Given the description of an element on the screen output the (x, y) to click on. 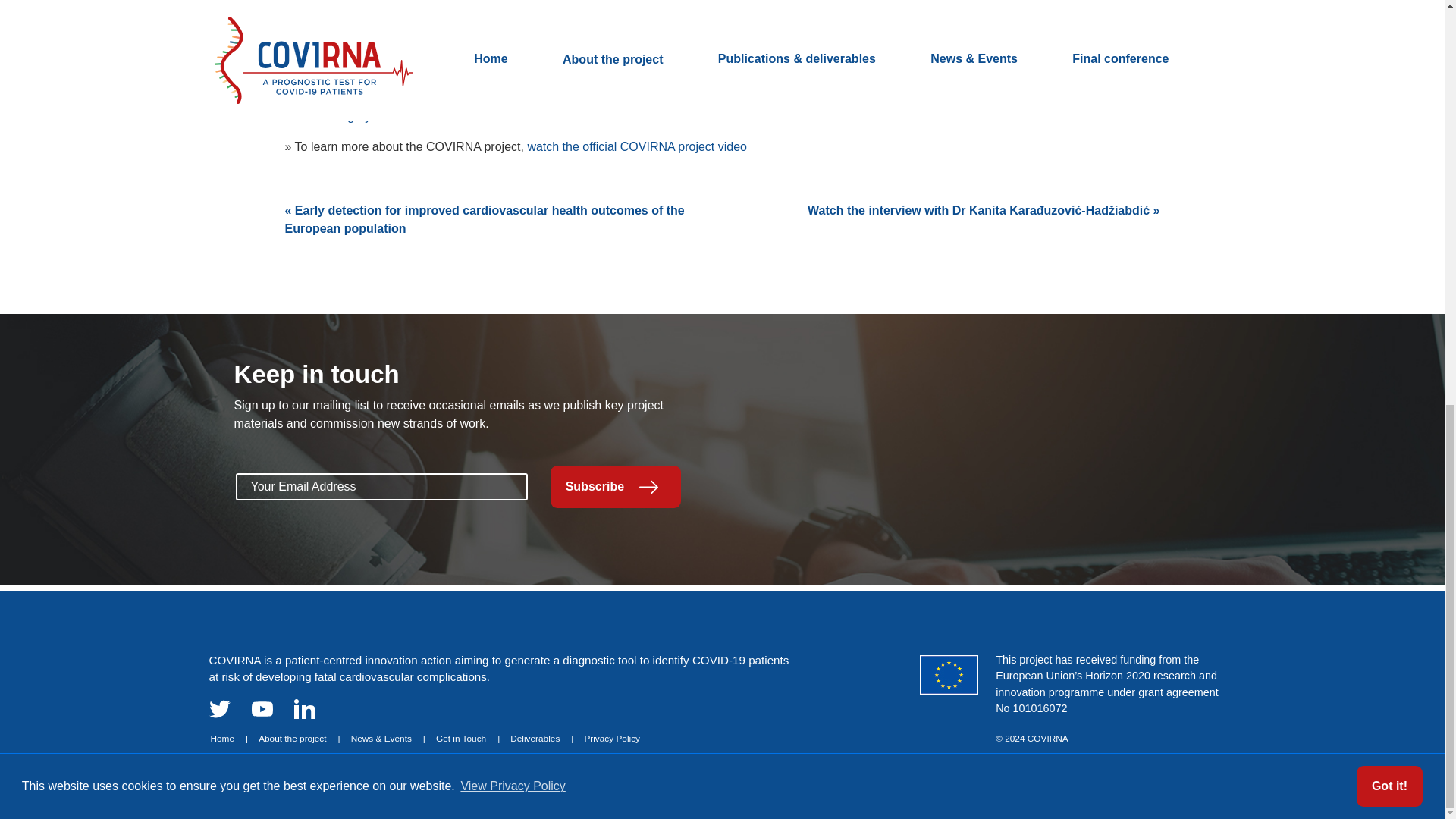
Deliverables (542, 738)
Home (229, 738)
Twitter Logo (219, 708)
Subscribe (615, 486)
Got it! (1389, 2)
watch the official COVIRNA project video (636, 147)
About the project (299, 738)
Pharmahungary (328, 116)
Privacy Policy (611, 738)
Get in Touch (467, 738)
